Given the description of an element on the screen output the (x, y) to click on. 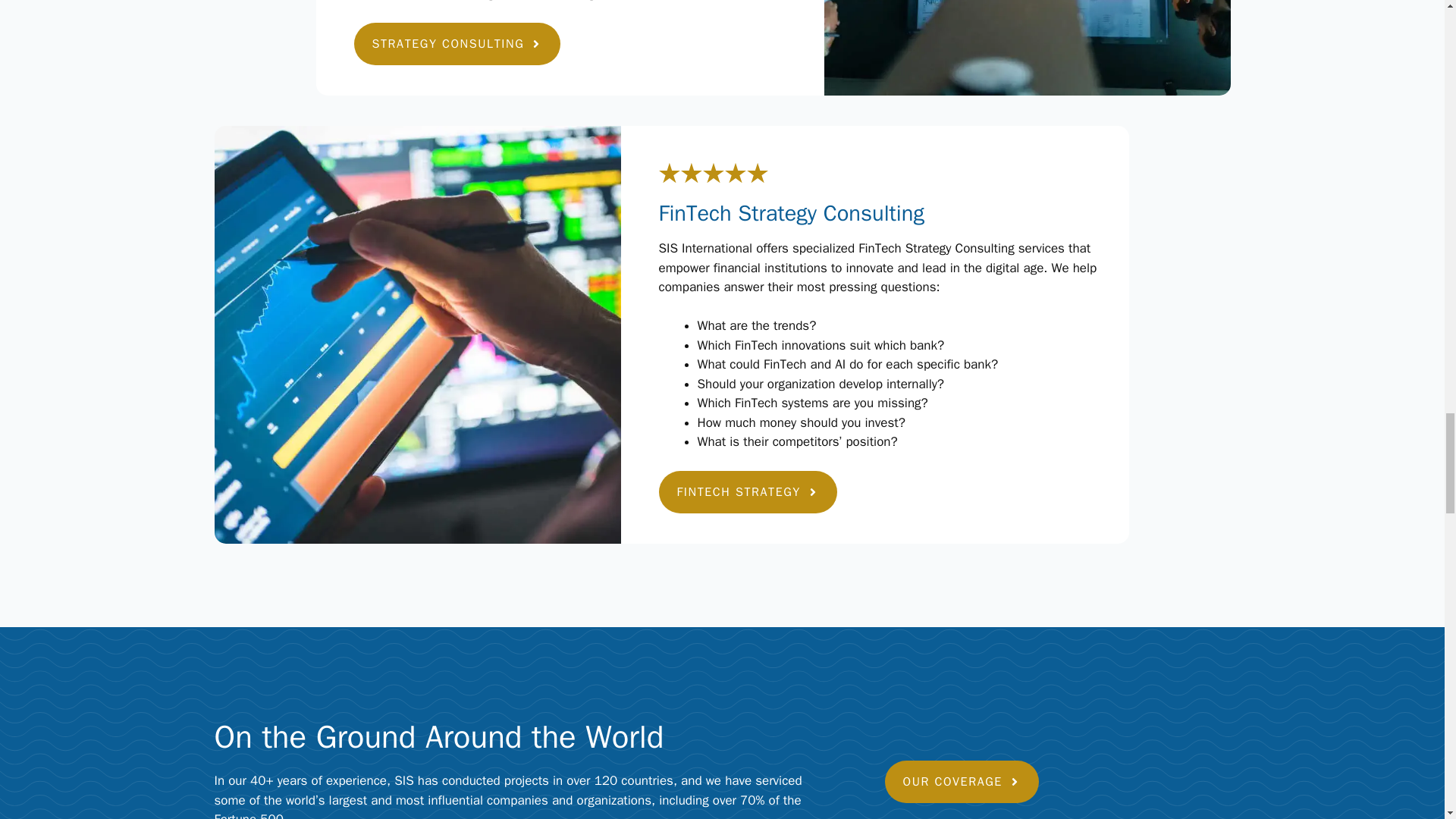
STRATEGY CONSULTING (456, 43)
FINTECH STRATEGY (746, 491)
OUR COVERAGE (960, 781)
